Given the description of an element on the screen output the (x, y) to click on. 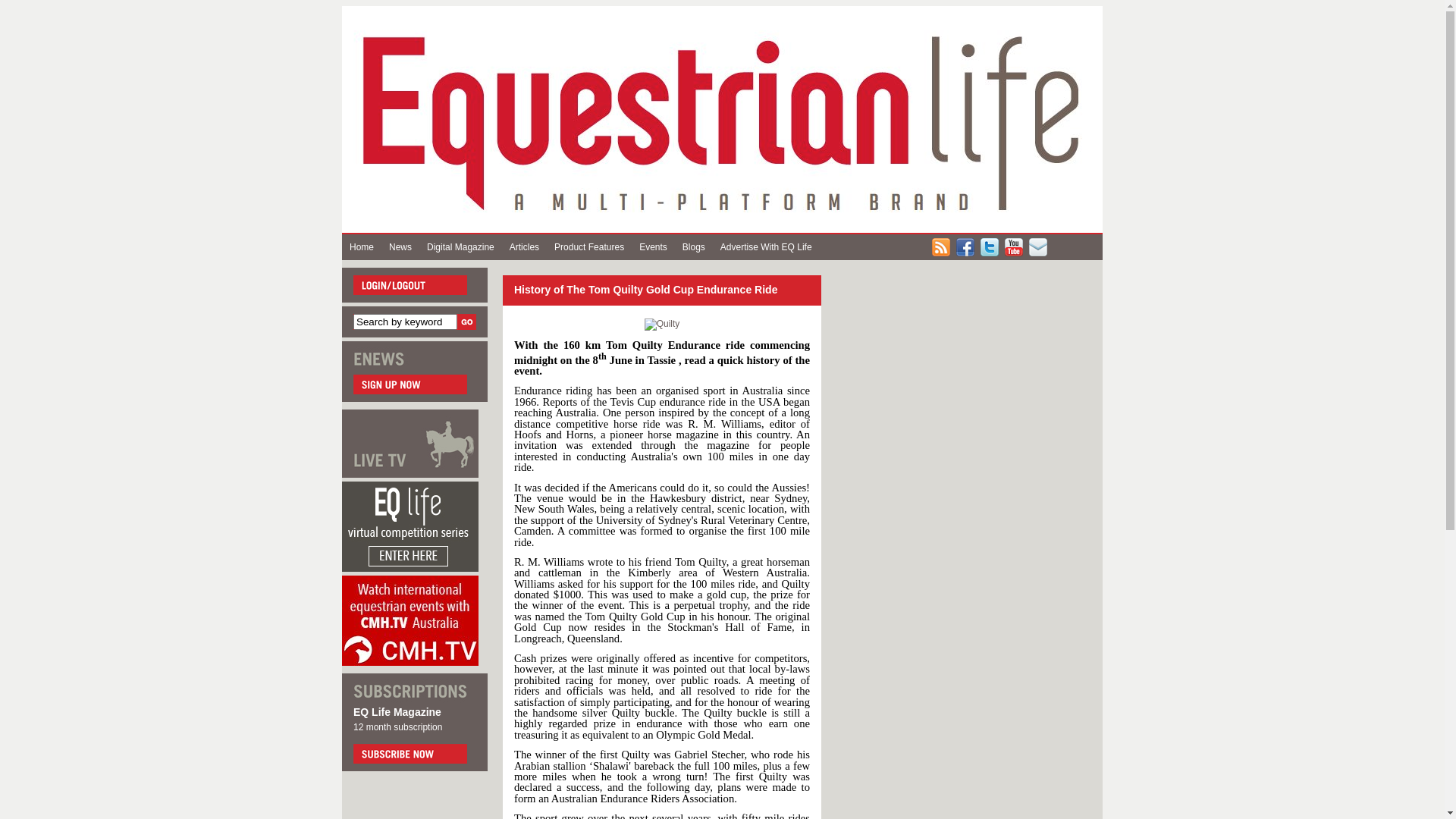
Events Element type: text (652, 247)
Advertise With EQ Life Element type: text (765, 247)
Home Element type: text (361, 247)
Blogs Element type: text (693, 247)
Articles Element type: text (524, 247)
News Element type: text (400, 247)
Product Features Element type: text (588, 247)
Digital Magazine Element type: text (460, 247)
